Given the description of an element on the screen output the (x, y) to click on. 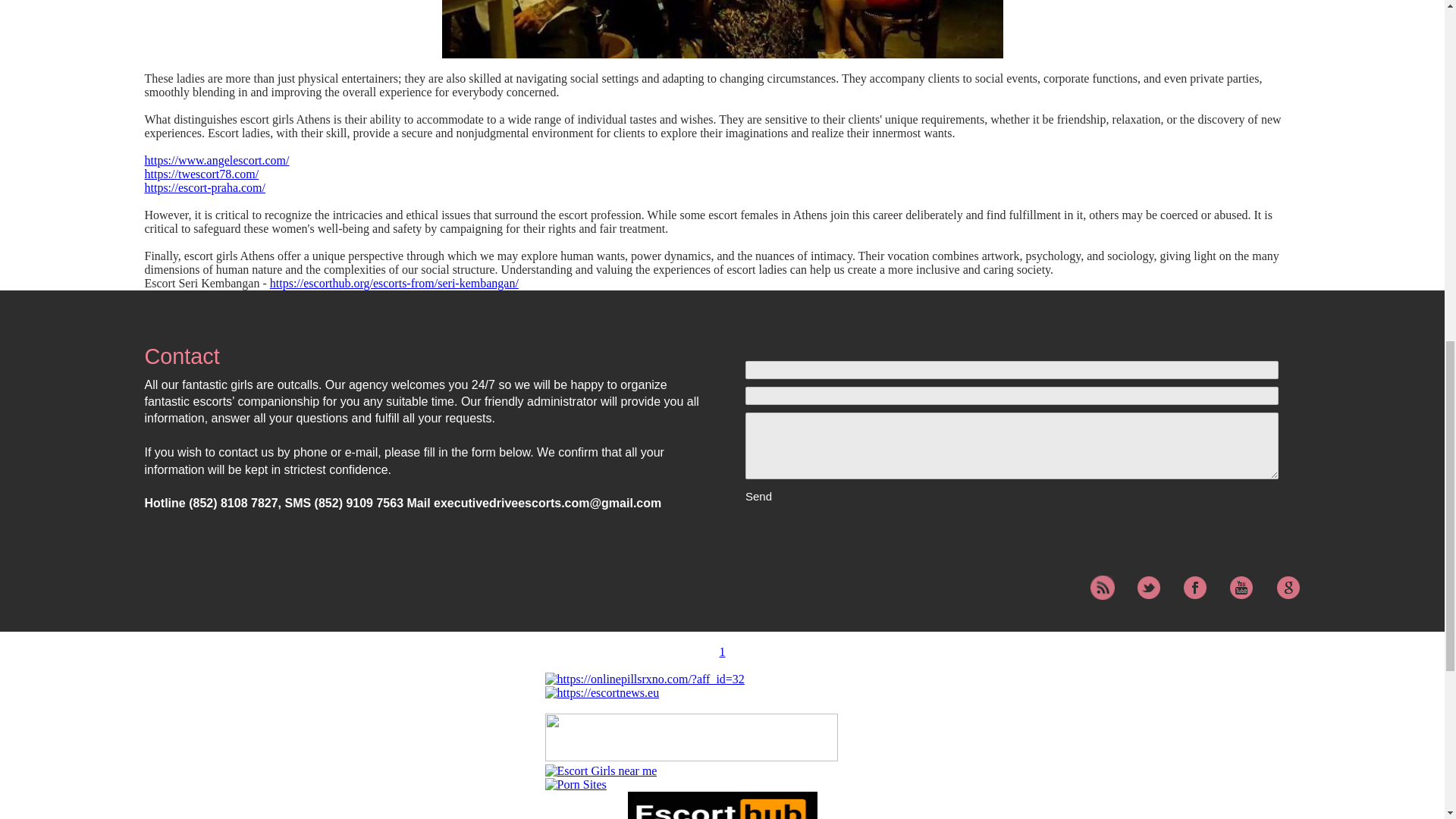
Porn Sites List (574, 784)
Send (800, 495)
Message (1011, 445)
Send (800, 495)
1 (721, 652)
Escorts near me (600, 770)
Email (1011, 395)
Name (1011, 370)
